Given the description of an element on the screen output the (x, y) to click on. 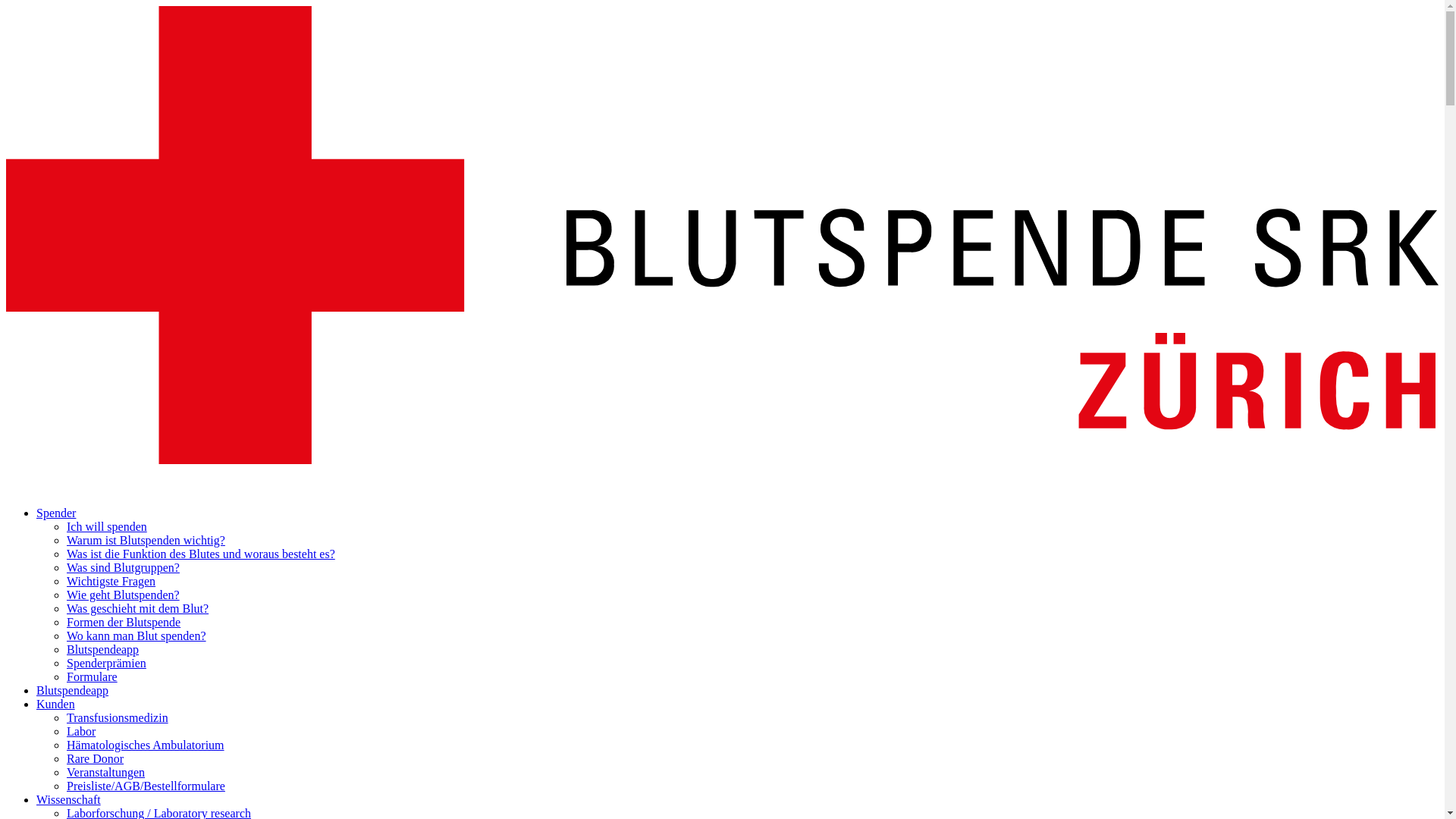
Formen der Blutspende Element type: text (123, 621)
Was ist die Funktion des Blutes und woraus besteht es? Element type: text (200, 553)
Transfusionsmedizin Element type: text (117, 717)
Rare Donor Element type: text (94, 758)
Formulare Element type: text (91, 676)
Labor Element type: text (80, 730)
Wichtigste Fragen Element type: text (110, 580)
Warum ist Blutspenden wichtig? Element type: text (145, 539)
Kunden Element type: text (55, 703)
Was sind Blutgruppen? Element type: text (122, 567)
Preisliste/AGB/Bestellformulare Element type: text (145, 785)
Wie geht Blutspenden? Element type: text (122, 594)
Wo kann man Blut spenden? Element type: text (136, 635)
Veranstaltungen Element type: text (105, 771)
Was geschieht mit dem Blut? Element type: text (137, 608)
Blutspendeapp Element type: text (102, 649)
Wissenschaft Element type: text (68, 799)
Spender Element type: text (55, 512)
Blutspendeapp Element type: text (72, 690)
Ich will spenden Element type: text (106, 526)
